Given the description of an element on the screen output the (x, y) to click on. 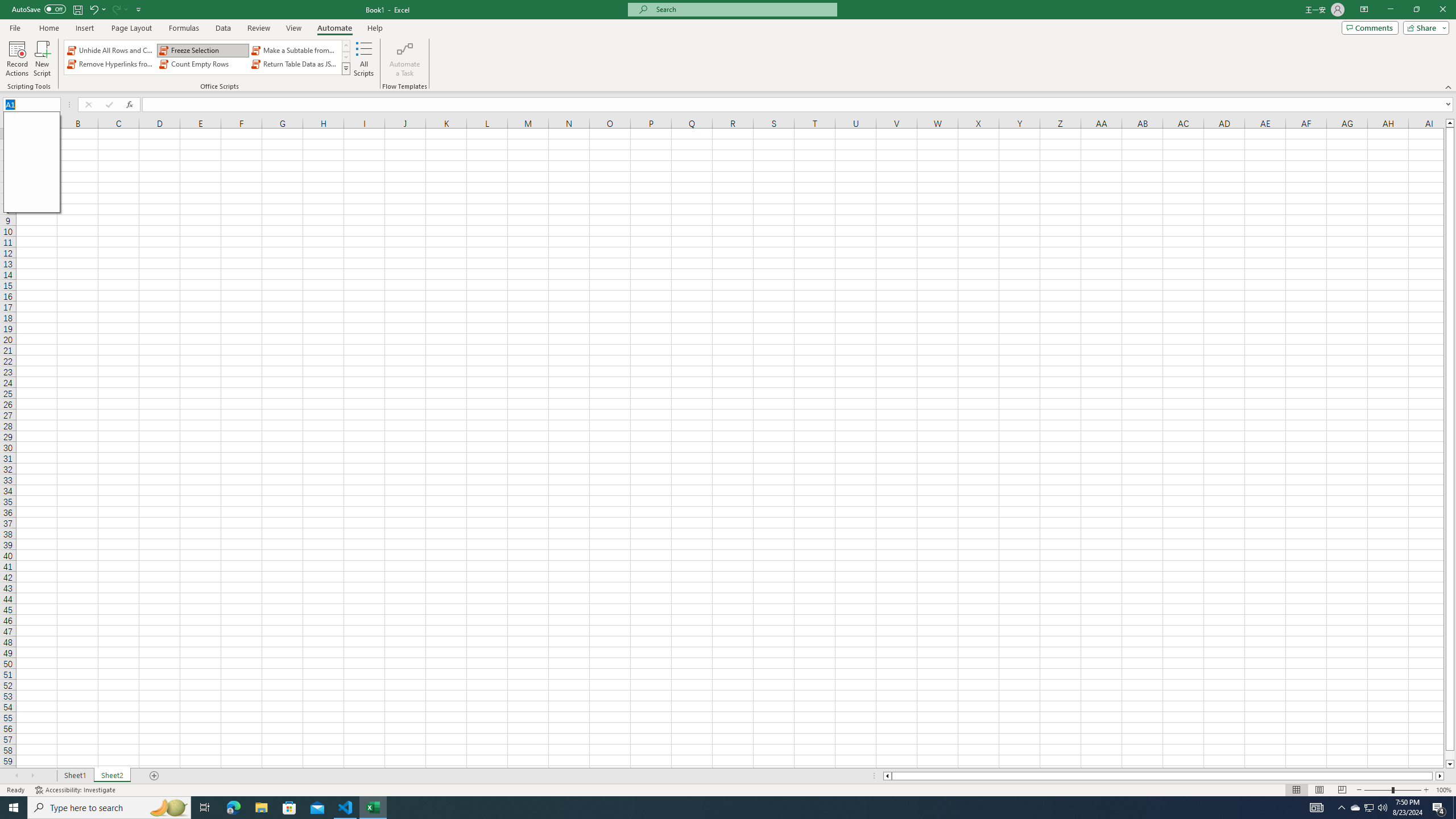
All Scripts (363, 58)
